Given the description of an element on the screen output the (x, y) to click on. 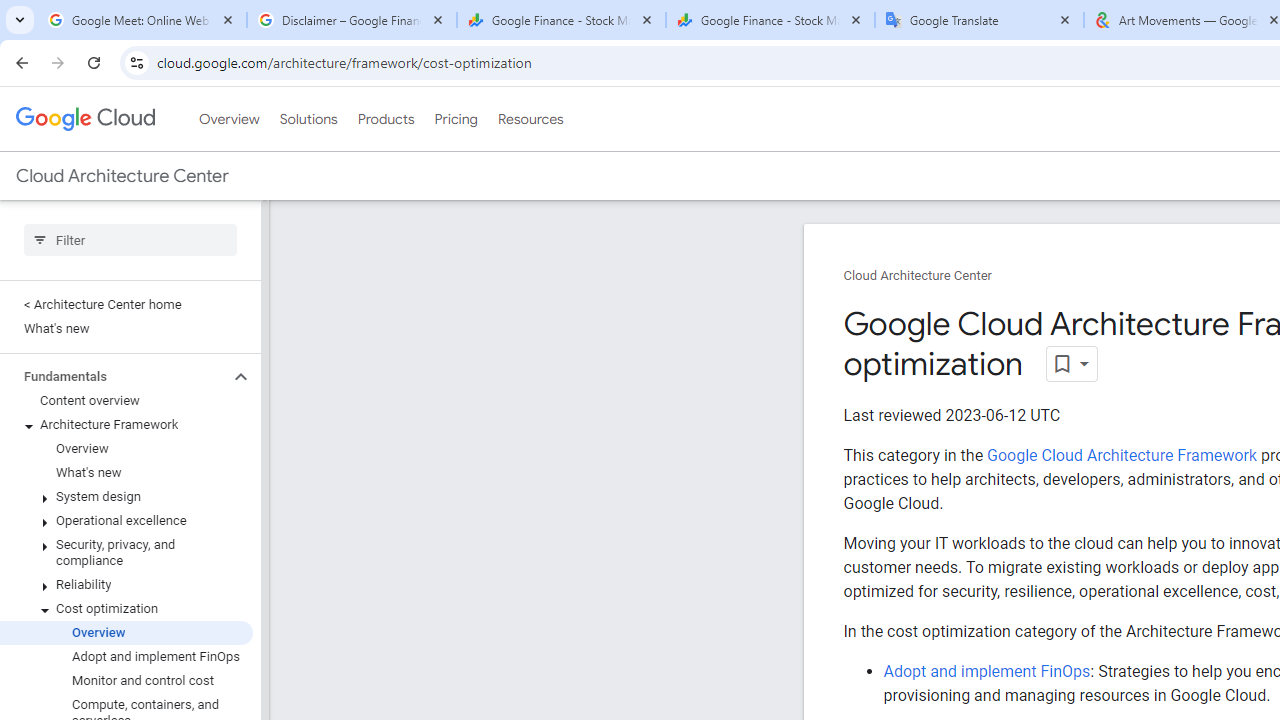
Security, privacy, and compliance (126, 552)
Monitor and control cost (126, 680)
What's new (126, 472)
Google Cloud (84, 118)
Reliability (126, 584)
Pricing (455, 119)
< Architecture Center home (126, 304)
Content overview (126, 400)
